Given the description of an element on the screen output the (x, y) to click on. 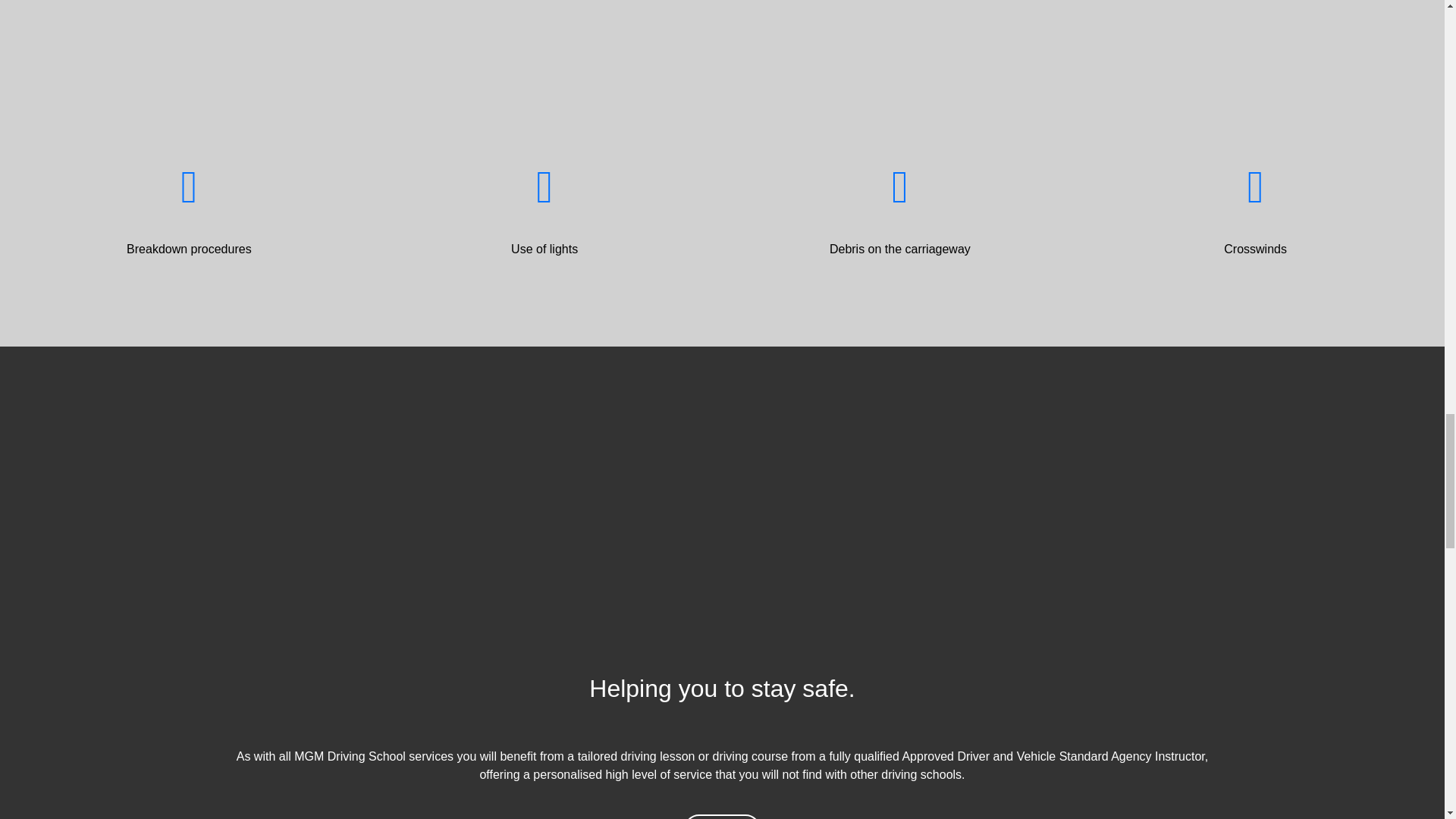
Book Now (722, 816)
Helping you to stay safe. (721, 703)
